Given the description of an element on the screen output the (x, y) to click on. 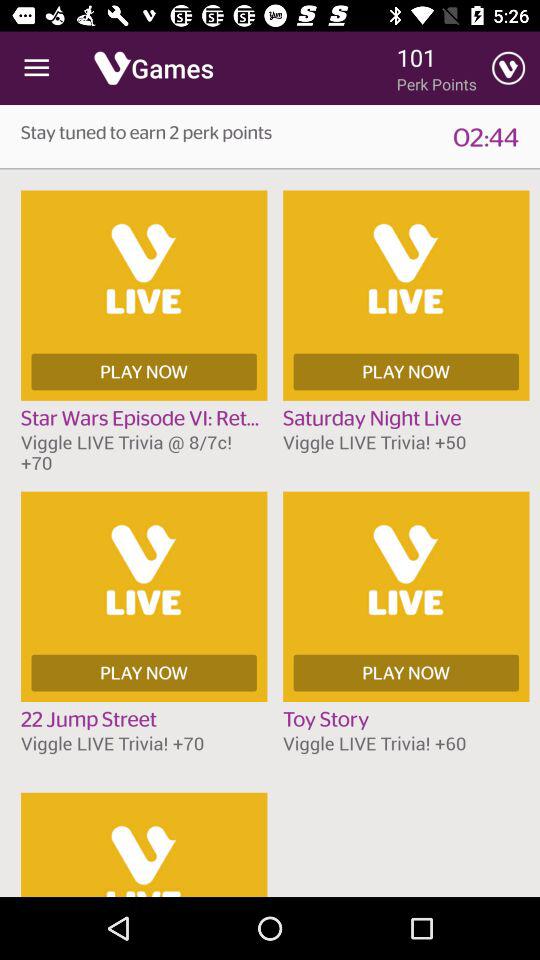
turn on item next to perk points icon (508, 67)
